Given the description of an element on the screen output the (x, y) to click on. 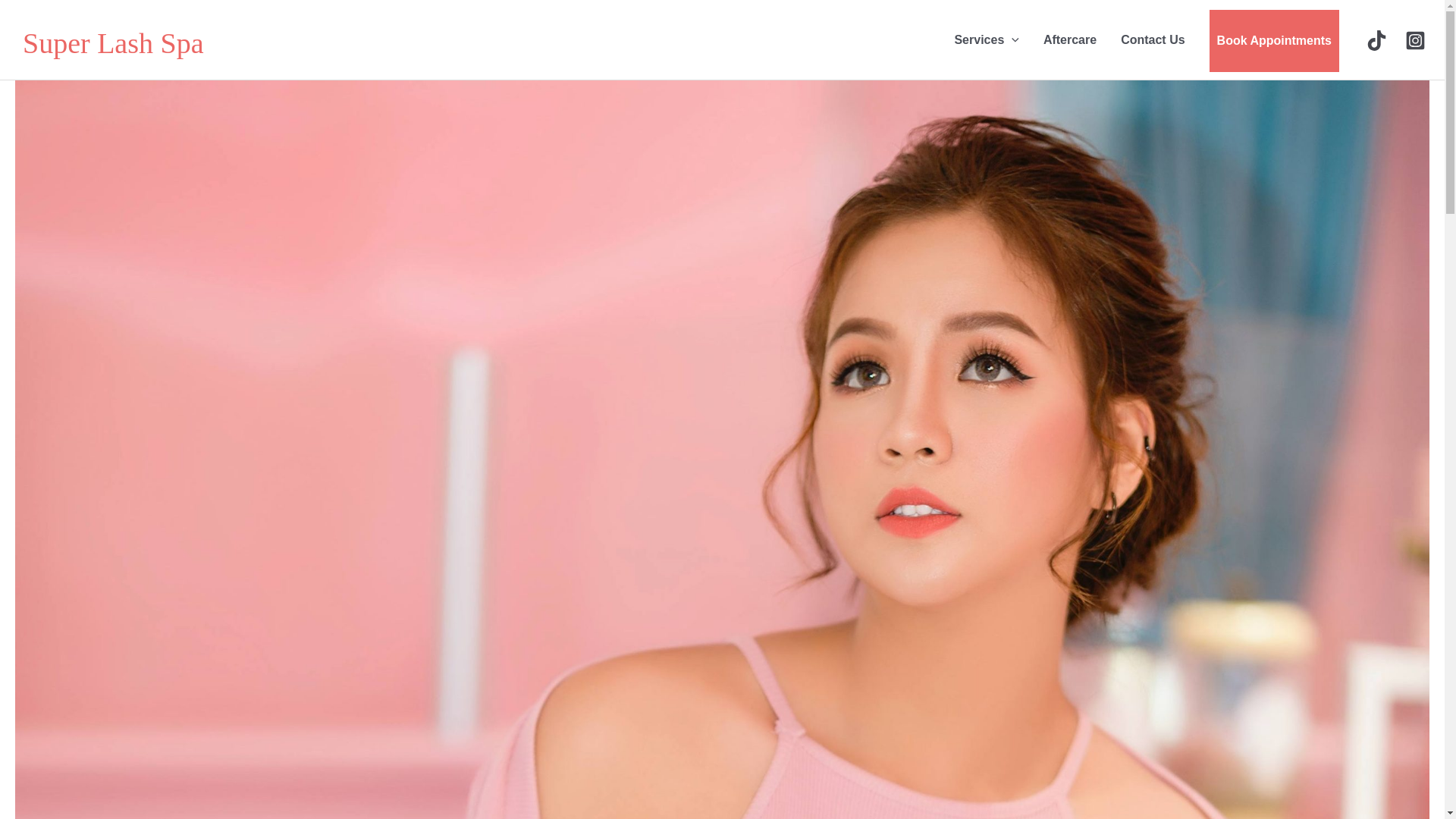
Aftercare (1069, 39)
Contact Us (1152, 39)
Book Appointments (1273, 39)
Super Lash Spa (113, 42)
Services (986, 39)
